Given the description of an element on the screen output the (x, y) to click on. 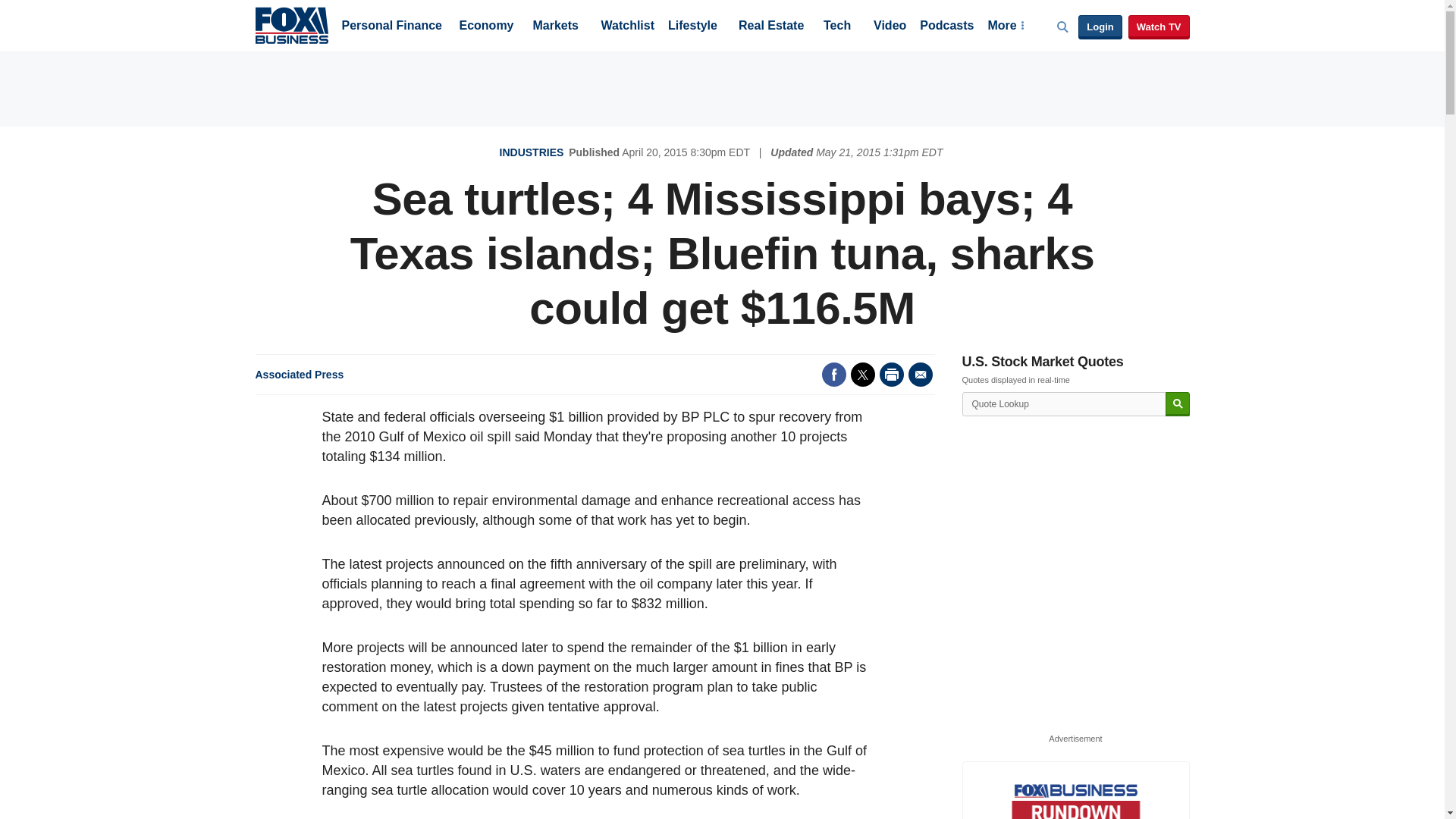
More (1005, 27)
Economy (486, 27)
Personal Finance (391, 27)
Tech (837, 27)
Watchlist (626, 27)
Search (1176, 404)
Login (1099, 27)
Video (889, 27)
Lifestyle (692, 27)
Fox Business (290, 24)
